Given the description of an element on the screen output the (x, y) to click on. 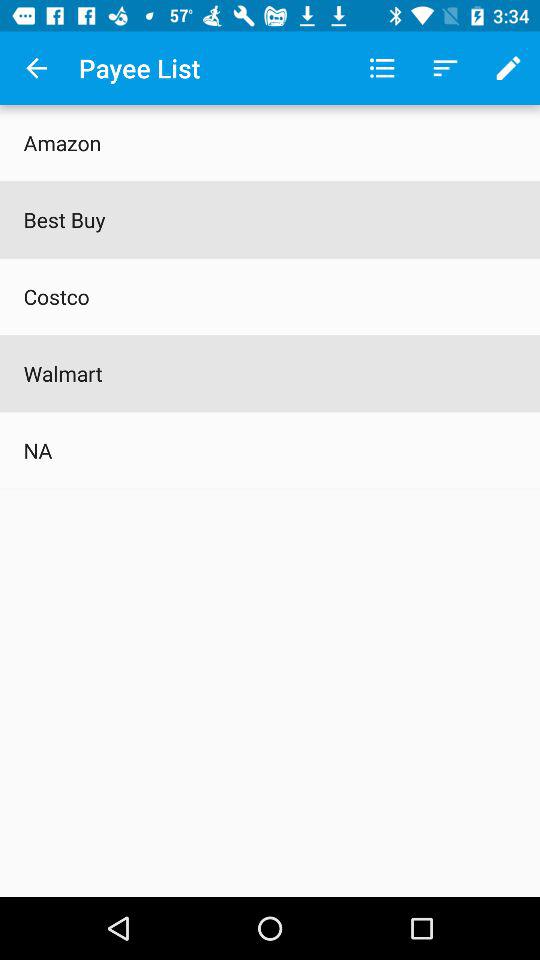
tap the icon above amazon (36, 68)
